Given the description of an element on the screen output the (x, y) to click on. 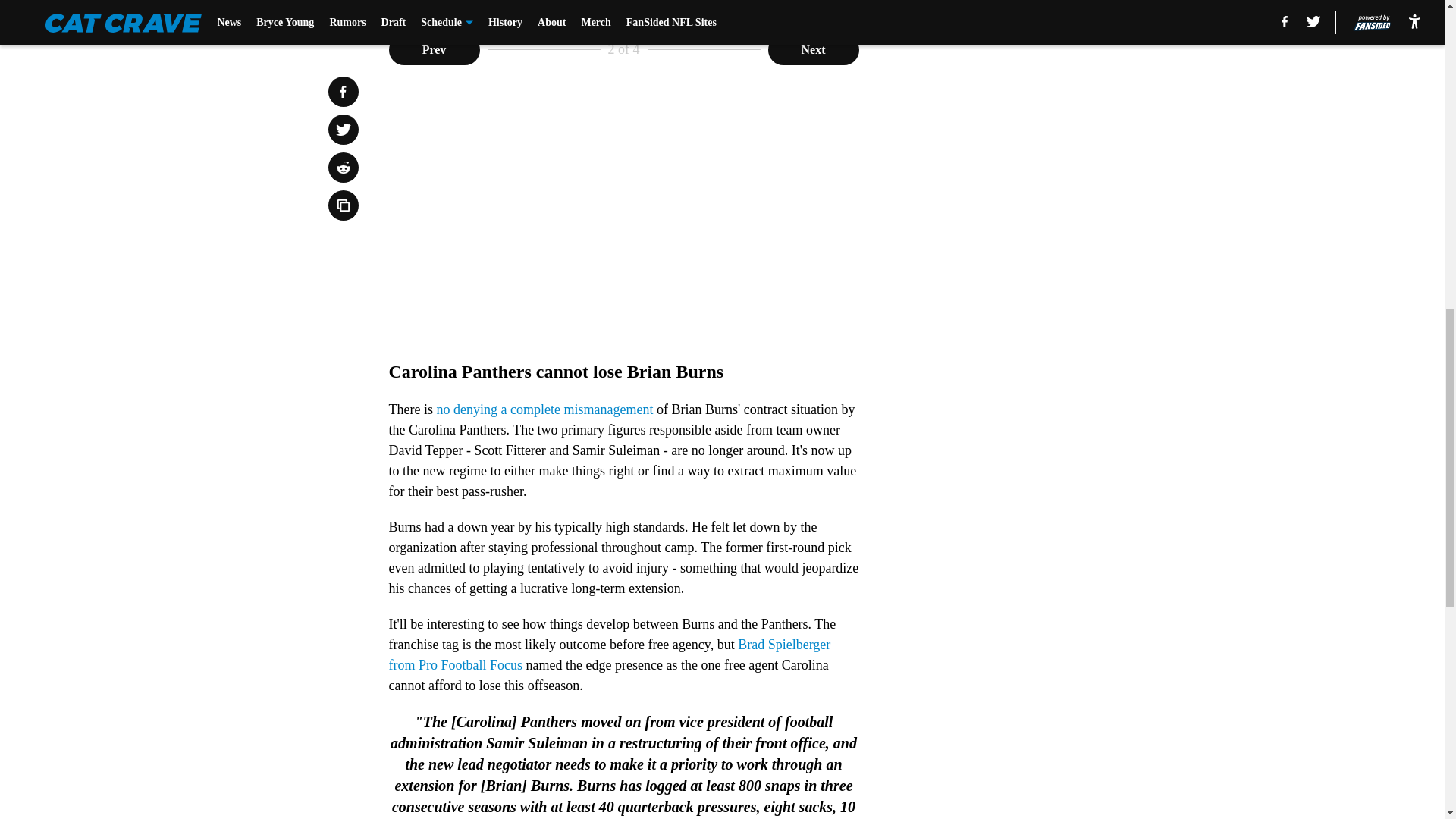
Brad Spielberger from Pro Football Focus (608, 654)
Prev (433, 50)
no denying a complete mismanagement (543, 409)
Next (813, 50)
